Given the description of an element on the screen output the (x, y) to click on. 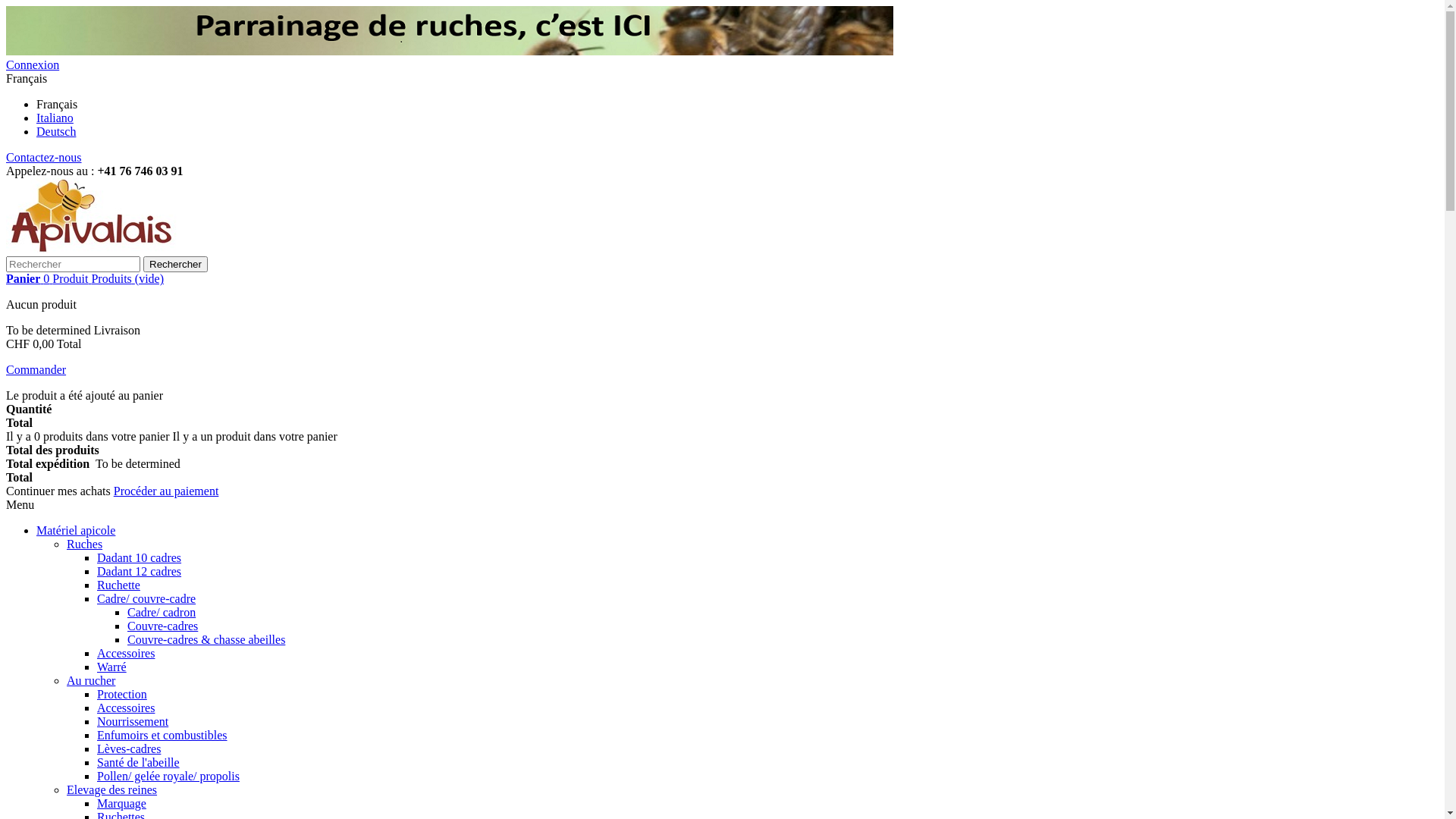
Contactez-nous Element type: text (43, 156)
Dadant 12 cadres Element type: text (139, 570)
Elevage des reines Element type: text (111, 789)
Marquage Element type: text (121, 803)
Rechercher Element type: text (175, 264)
Couvre-cadres Element type: text (162, 625)
Couvre-cadres & chasse abeilles Element type: text (206, 639)
Enfumoirs et combustibles Element type: text (162, 734)
Deutsch Element type: text (55, 131)
Cadre/ cadron Element type: text (161, 611)
Panier 0 Produit Produits (vide) Element type: text (84, 278)
Cadre/ couvre-cadre Element type: text (146, 598)
Au rucher Element type: text (90, 680)
Parrainage de ruches Element type: hover (449, 50)
Nourrissement Element type: text (132, 721)
Parrainage de ruches Element type: hover (449, 30)
Ruchette Element type: text (118, 584)
Accessoires Element type: text (125, 652)
Accessoires Element type: text (125, 707)
Protection Element type: text (122, 693)
Connexion Element type: text (32, 64)
Dadant 10 cadres Element type: text (139, 557)
Italiano Element type: text (54, 117)
Commander Element type: text (35, 369)
Ruches Element type: text (84, 543)
Apivalais Element type: hover (138, 248)
